Given the description of an element on the screen output the (x, y) to click on. 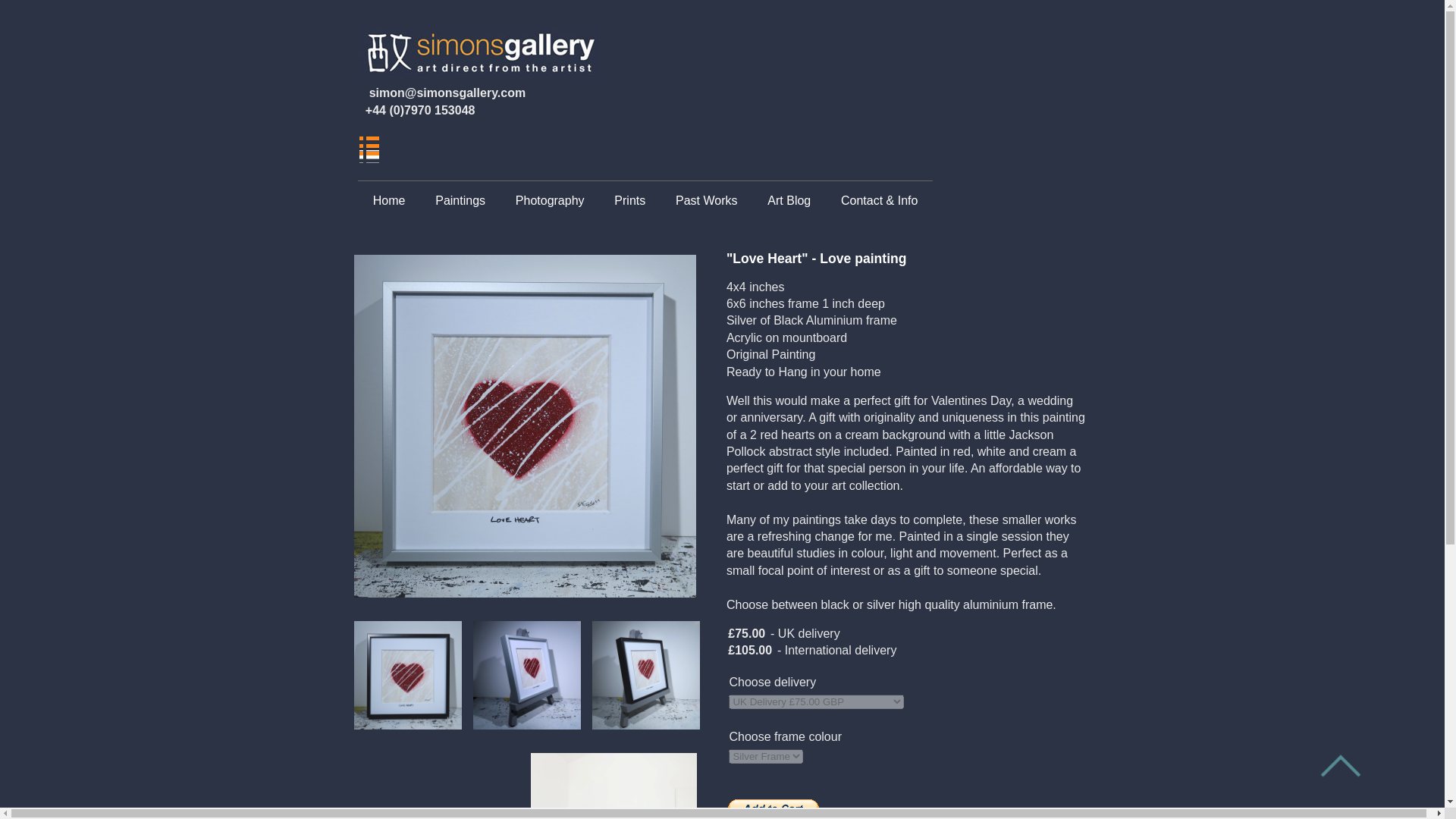
Past Works (706, 201)
Home (388, 201)
Art Blog (788, 201)
Photography (549, 201)
Prints (629, 201)
Paintings (459, 201)
